Given the description of an element on the screen output the (x, y) to click on. 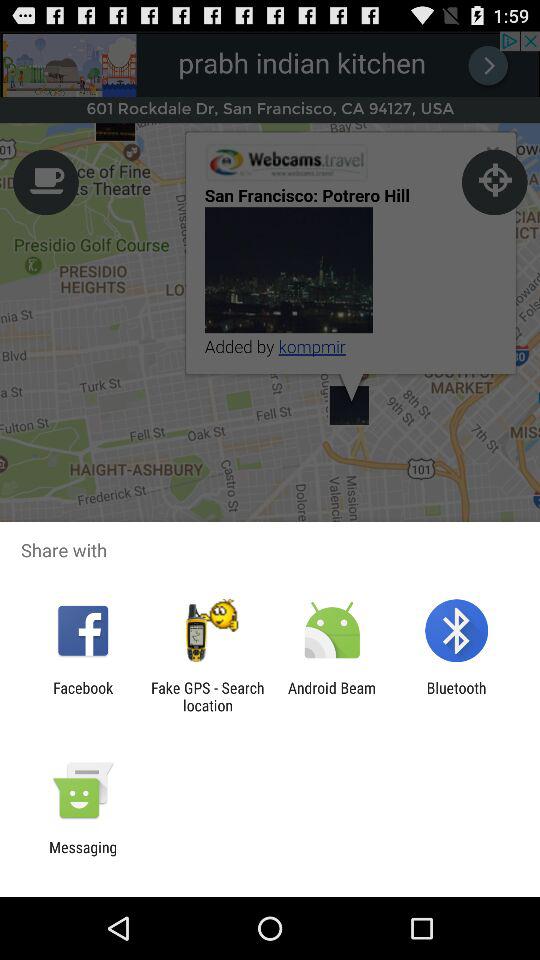
turn off item next to android beam item (207, 696)
